Given the description of an element on the screen output the (x, y) to click on. 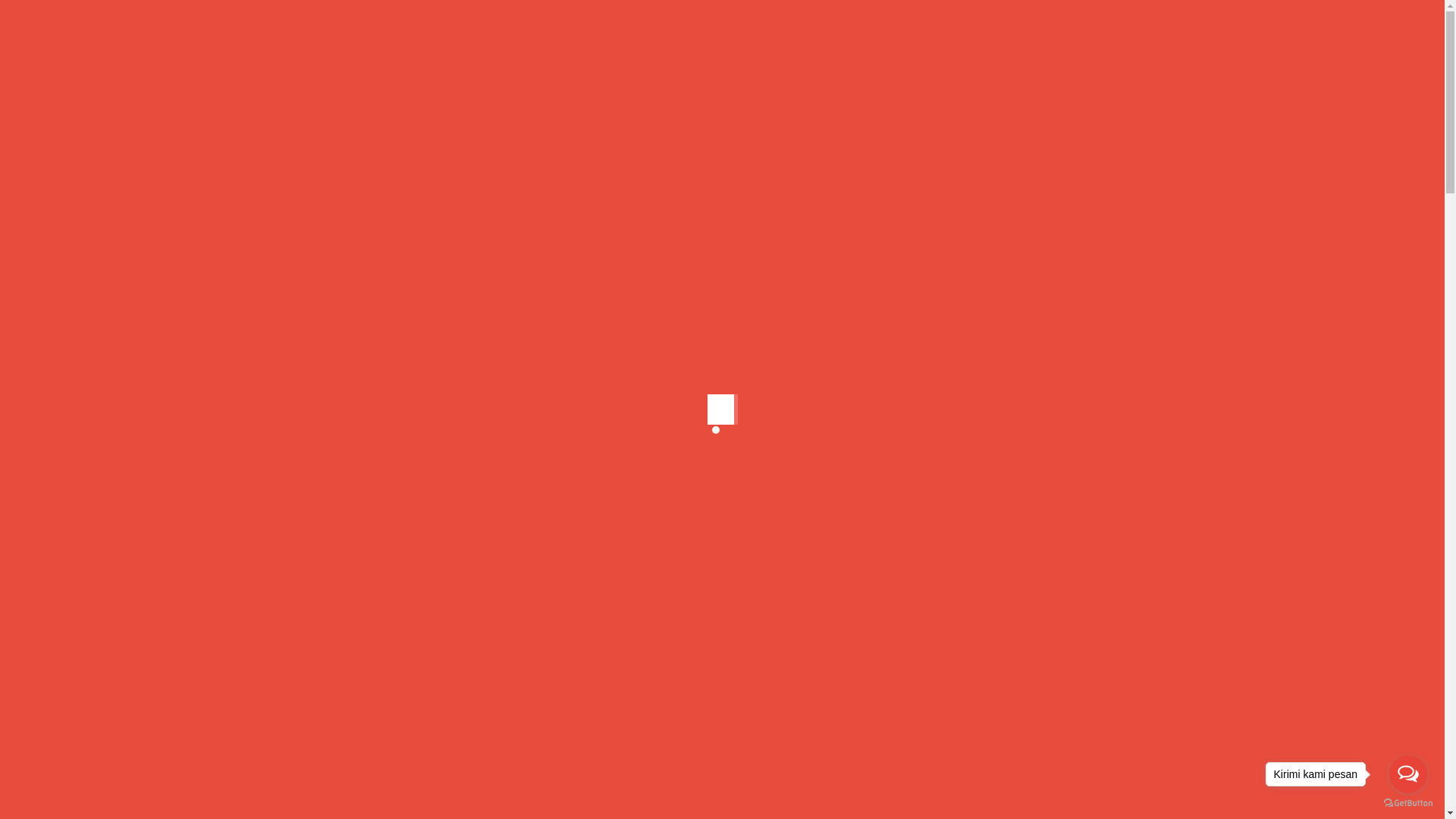
Reparasi kursi ukir jakarta Element type: text (1066, 180)
Posting Lebih Baru Element type: text (525, 781)
12/25/2017 08:54:00 AM Element type: text (393, 172)
service sofa jakarta Element type: text (688, 172)
6 Cara Service Sofa Sendiri Element type: text (1008, 525)
Ganti Kain Sofa Element type: text (974, 737)
service sofa bed Element type: text (596, 172)
Ganti Kulit Oscar Element type: text (979, 764)
Arikel Tentang Sofa Element type: text (987, 551)
Service sofa jakarta utara Element type: hover (579, 229)
Biaya Kain Sofa Element type: text (974, 604)
Tips dan trick memilih lem untuk furnitur yang rusak Element type: text (1068, 252)
service kursi kantor Element type: text (503, 172)
Service sofa Jakarta Timur Element type: text (394, 188)
Ganti Kulit Element type: text (1067, 737)
Bengkel Sofa Bekasi Element type: text (991, 578)
Cara Memperbaiki Furnitur Element type: text (1011, 657)
Bengkel Sofa Element type: text (1101, 551)
Cara Rawat Sofa Element type: text (977, 710)
Service sofa Jakarta Utara Element type: text (527, 188)
Service sofa Jakarta Selatan Element type: text (562, 180)
Bisnis Sofa Element type: text (961, 631)
Ganti Kulit Sofa Element type: text (1092, 764)
Posting Lama Element type: text (643, 781)
Bisnis Service Sofa Element type: text (1091, 604)
Cara Merawat Sofa Anda Element type: text (1002, 684)
service sofa yang murah di jakarta timur Element type: text (1067, 415)
Gabti Kulit Sofa Element type: text (1087, 710)
sofa bed terbaik Element type: text (383, 444)
Gorden Element type: text (952, 790)
lowongan tukang sofa Element type: text (978, 310)
Benzsofa Element type: text (310, 172)
Bengkel Sofa Area Jabotabek call 081381025835 Element type: text (1075, 350)
SERVICE SOFA JAKARTA Element type: text (722, 36)
Gordyn Element type: text (1012, 790)
